Given the description of an element on the screen output the (x, y) to click on. 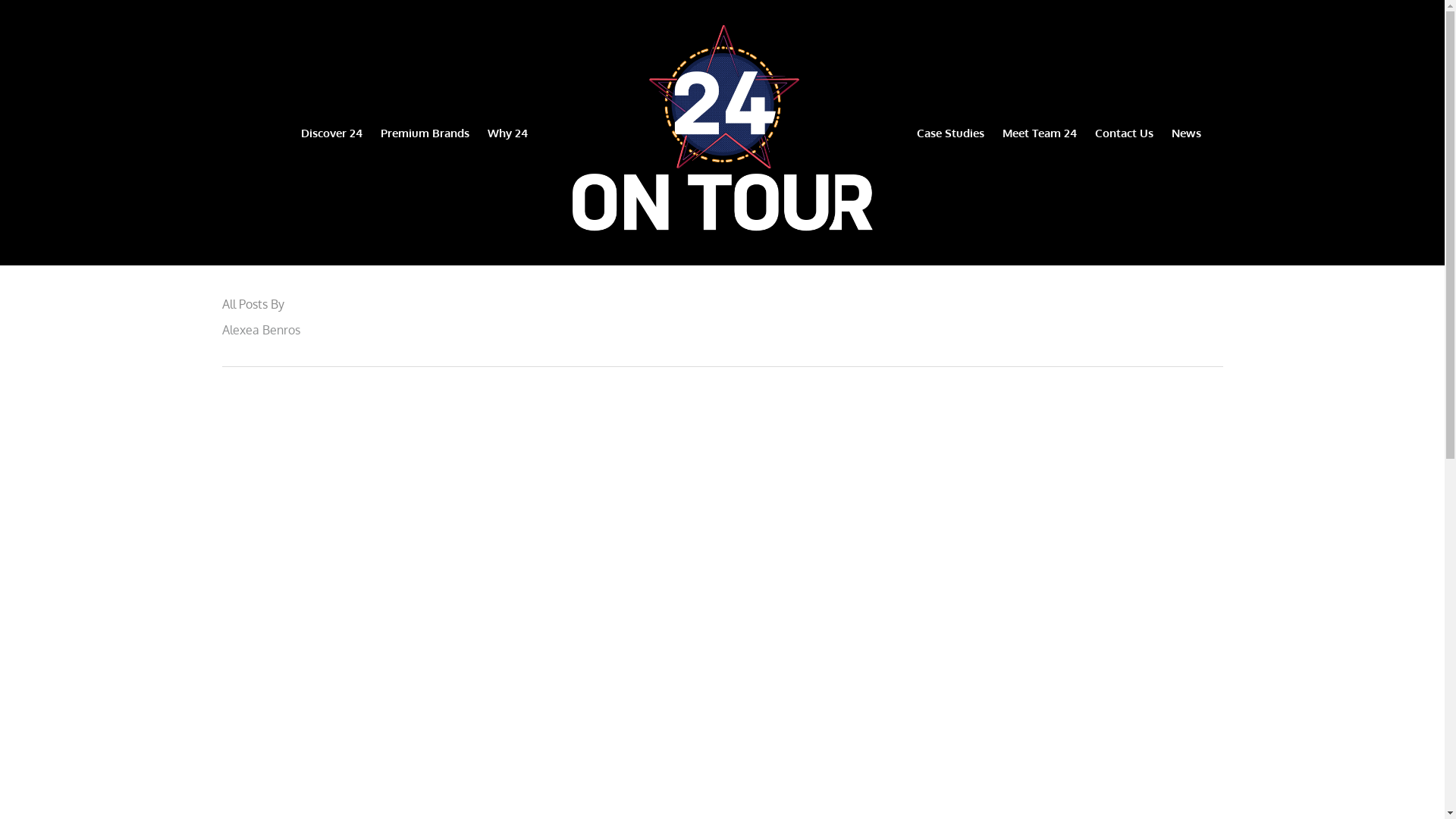
Why 24 Element type: text (653, 652)
Meet Team 24 Element type: text (1039, 132)
News Element type: text (1185, 132)
Contact Us Element type: text (1124, 132)
Case Studies Element type: text (737, 652)
Discover 24 Element type: text (330, 132)
Contact Us Element type: text (936, 652)
News Element type: text (1009, 652)
Premium Brands Element type: text (558, 652)
Why 24 Element type: text (506, 132)
Meet Team 24 Element type: text (839, 652)
Discover 24 Element type: text (452, 652)
Premium Brands Element type: text (424, 132)
Case Studies Element type: text (949, 132)
